Given the description of an element on the screen output the (x, y) to click on. 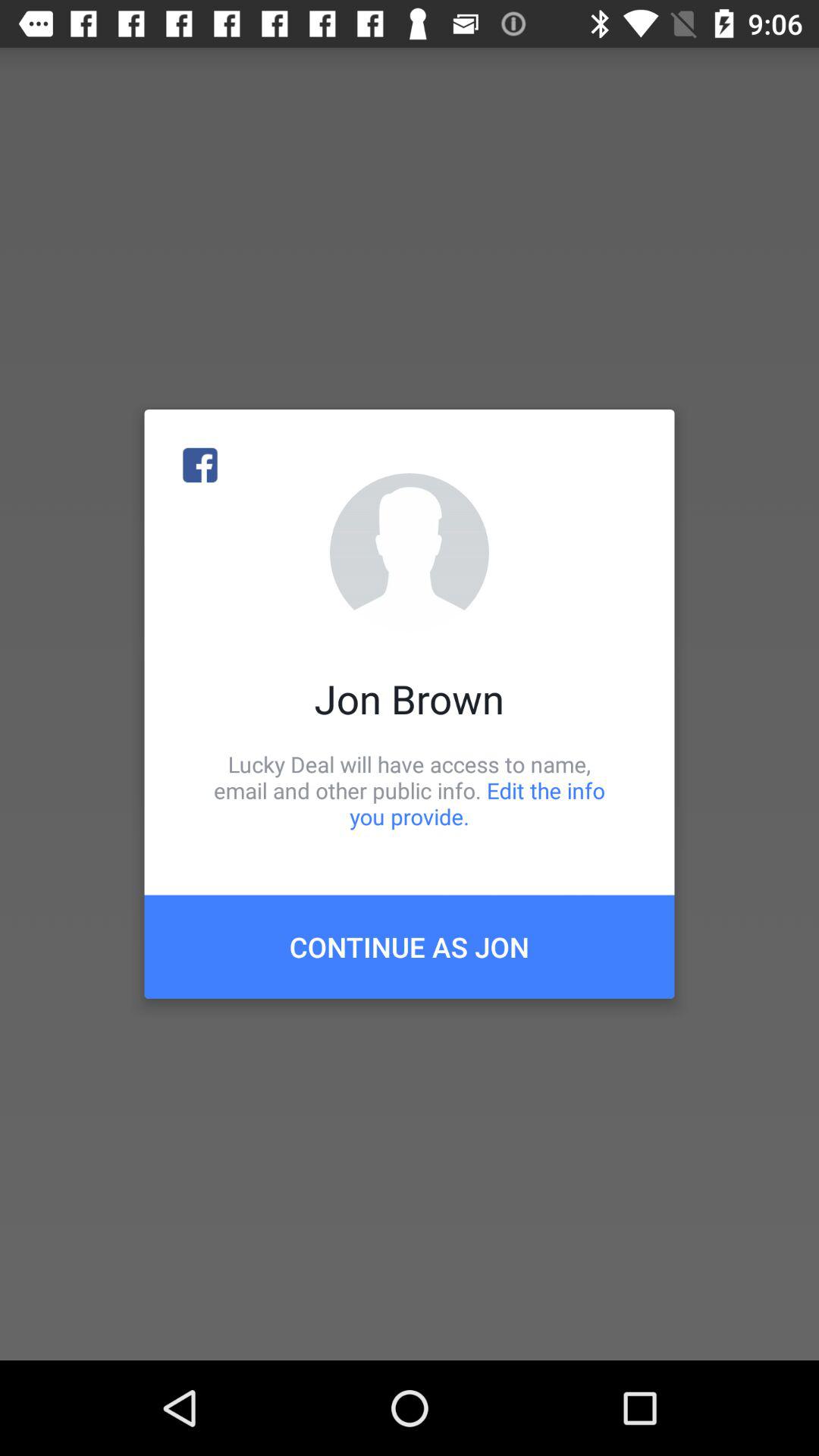
select icon below jon brown (409, 790)
